Given the description of an element on the screen output the (x, y) to click on. 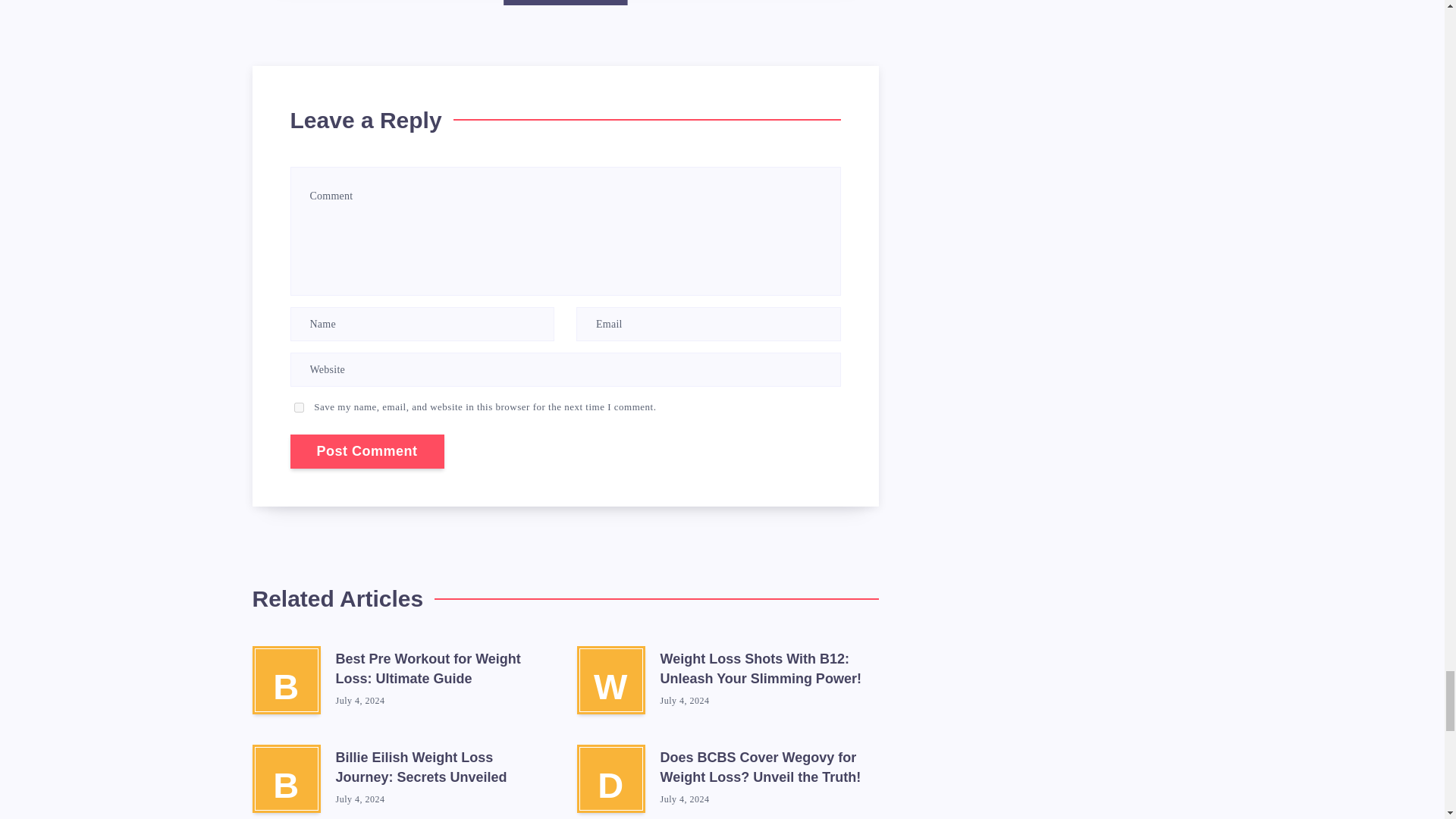
Post Comment (366, 451)
yes (299, 407)
